Given the description of an element on the screen output the (x, y) to click on. 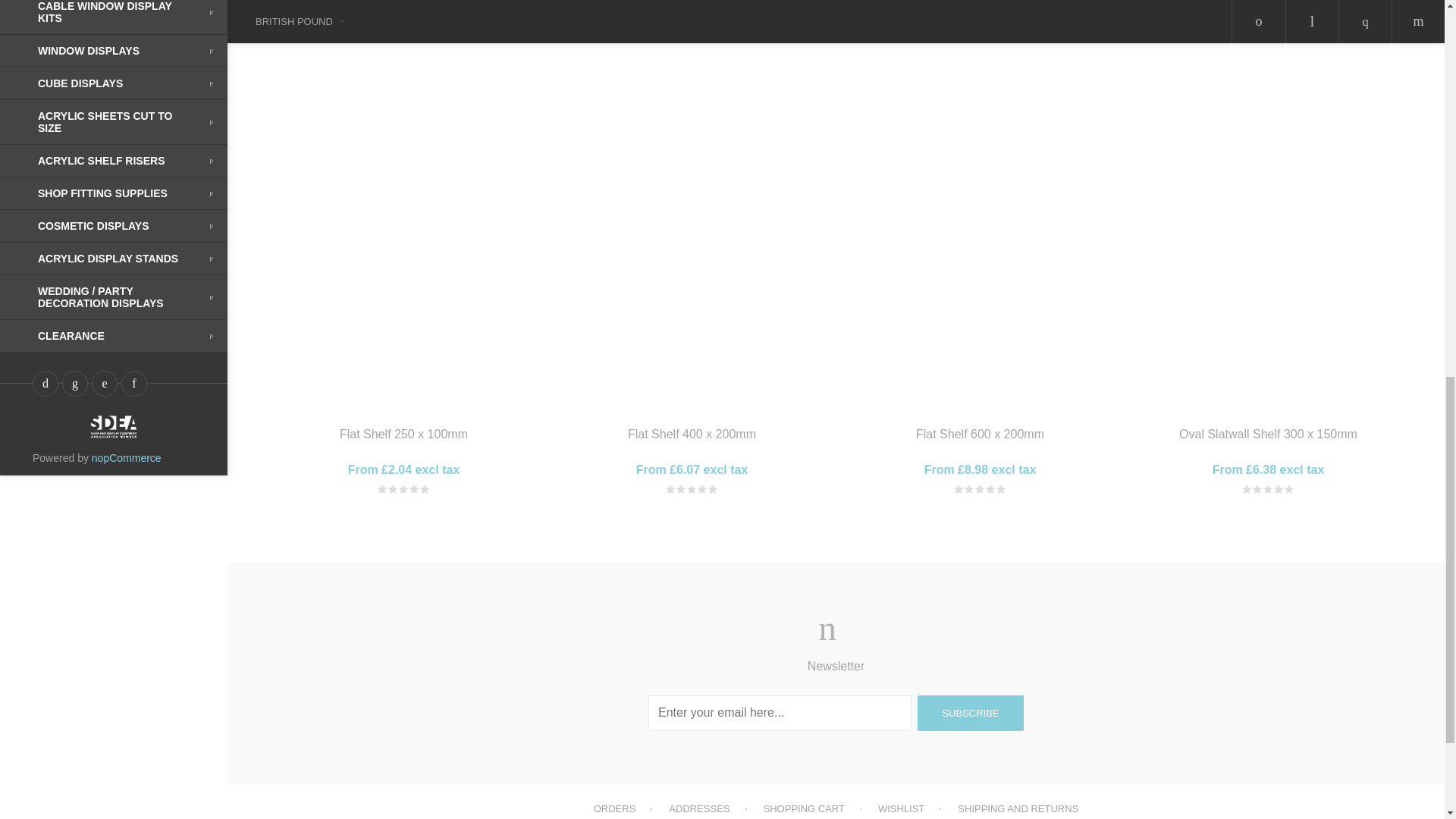
Subscribe (970, 713)
